Given the description of an element on the screen output the (x, y) to click on. 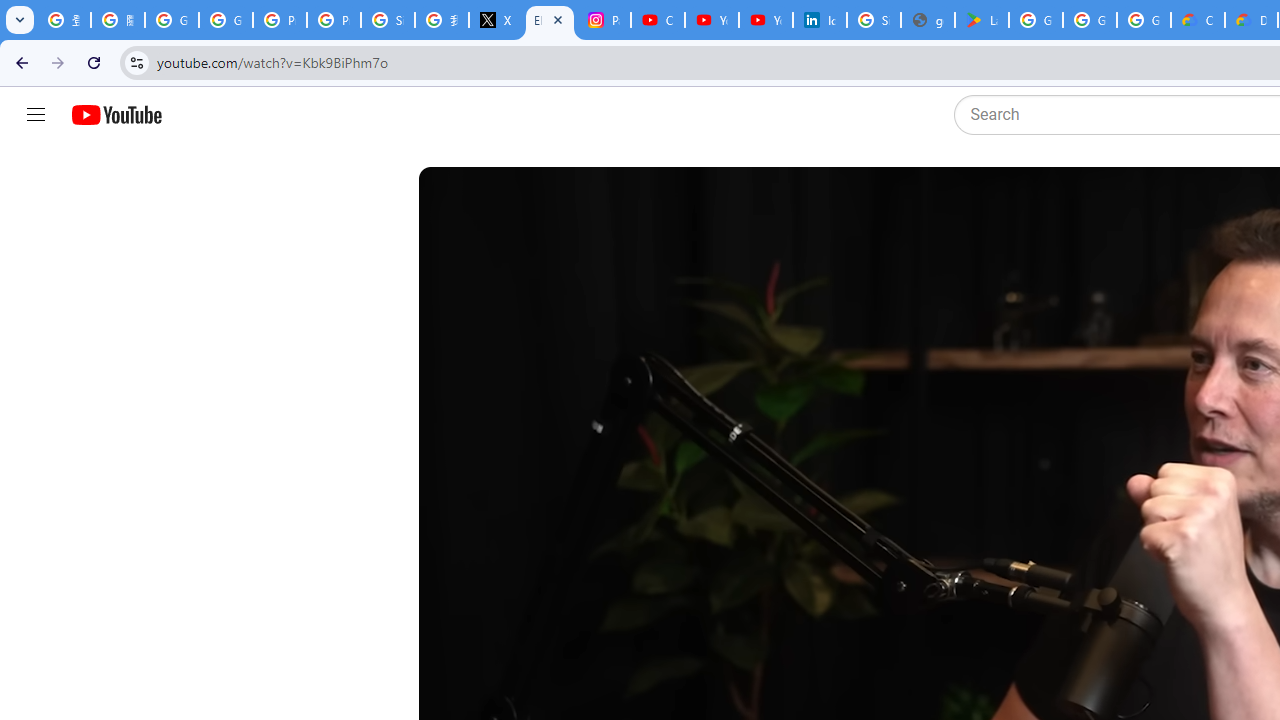
Customer Care | Google Cloud (1197, 20)
